Given the description of an element on the screen output the (x, y) to click on. 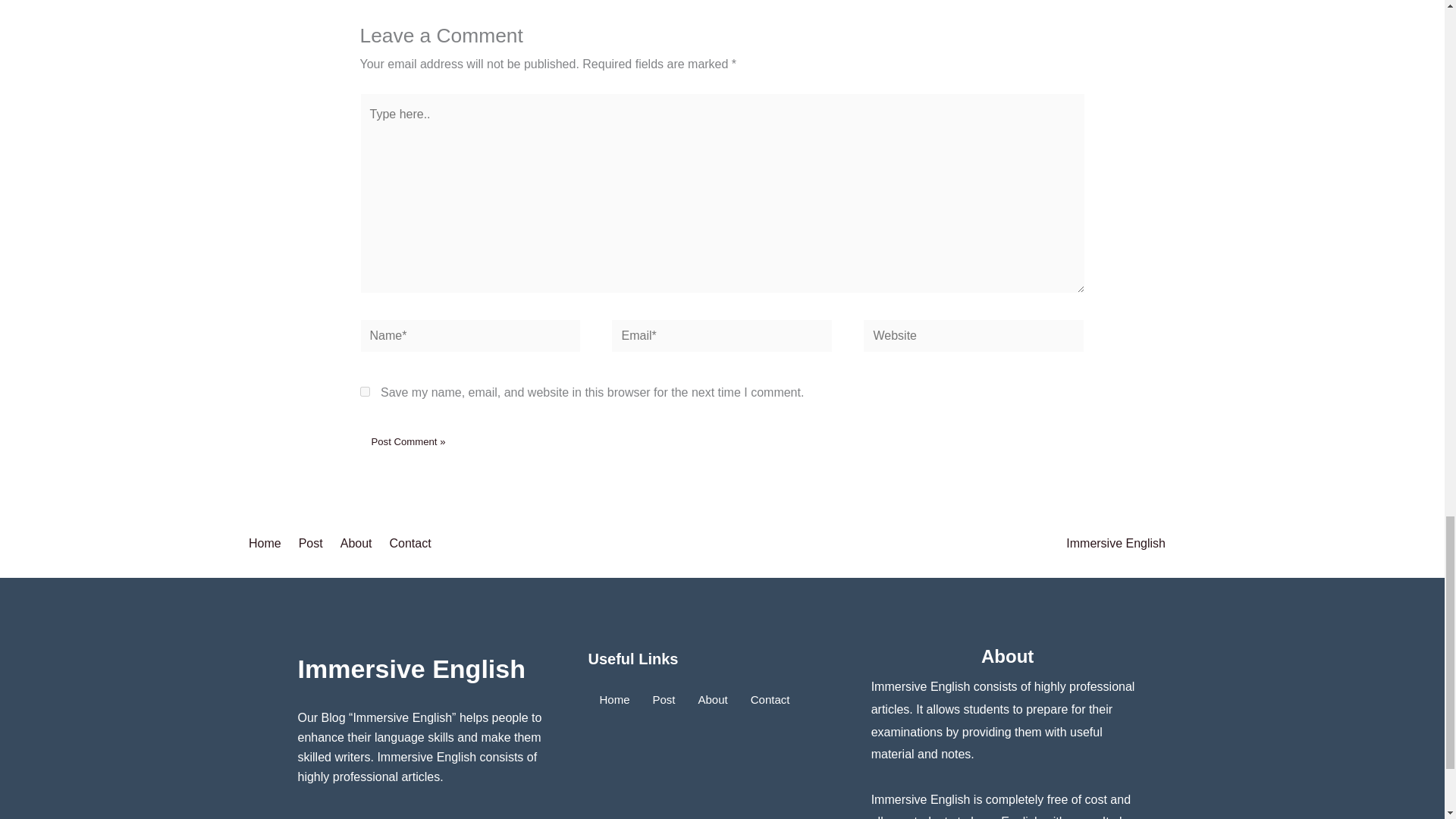
Contact (413, 543)
About (359, 543)
Post (313, 543)
Home (270, 543)
yes (364, 391)
